Given the description of an element on the screen output the (x, y) to click on. 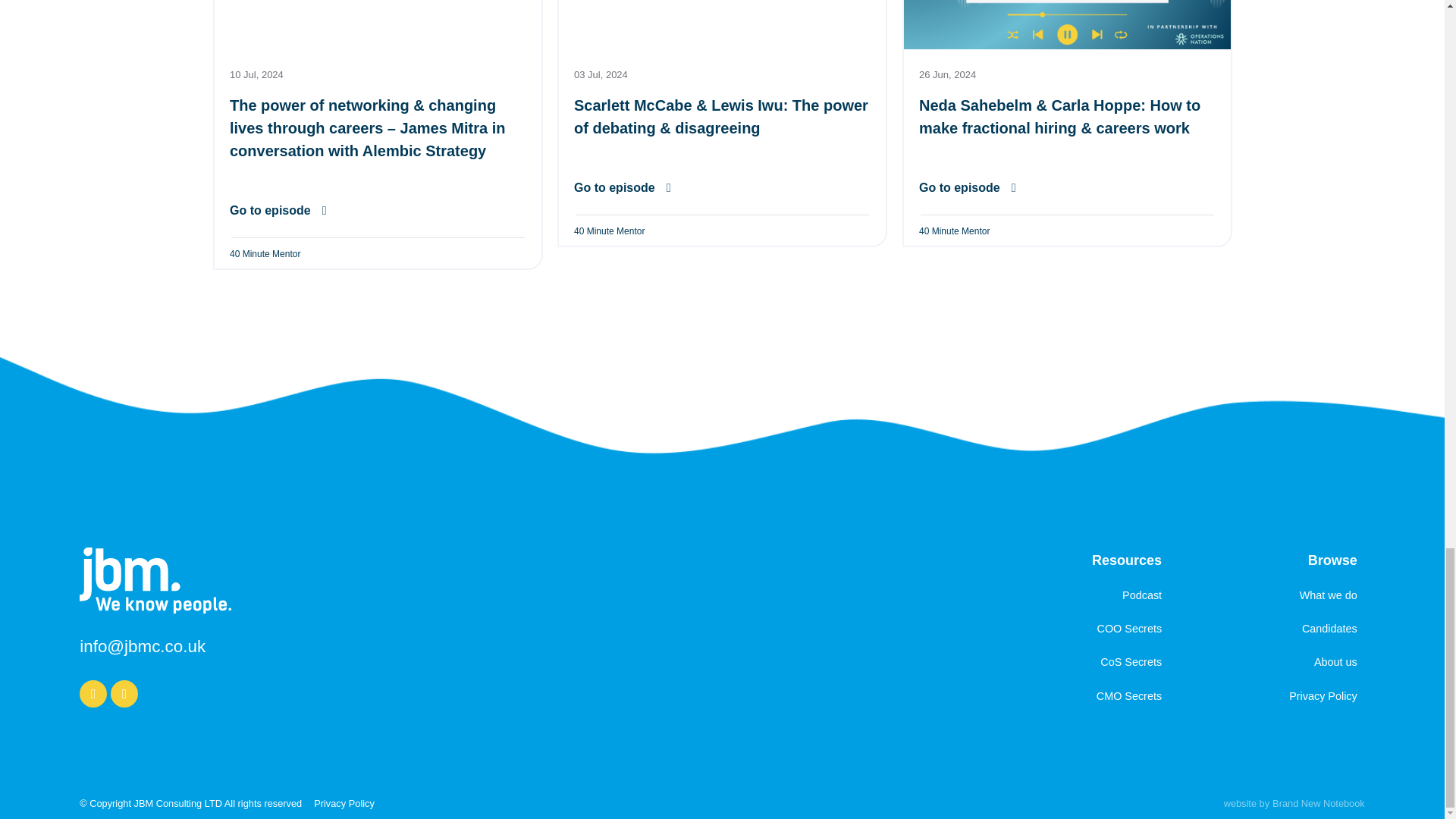
40 Minute Mentor (263, 254)
Go to episode (622, 187)
Go to episode (967, 187)
Go to episode (277, 210)
40 Minute Mentor (609, 231)
40 Minute Mentor (954, 231)
